Given the description of an element on the screen output the (x, y) to click on. 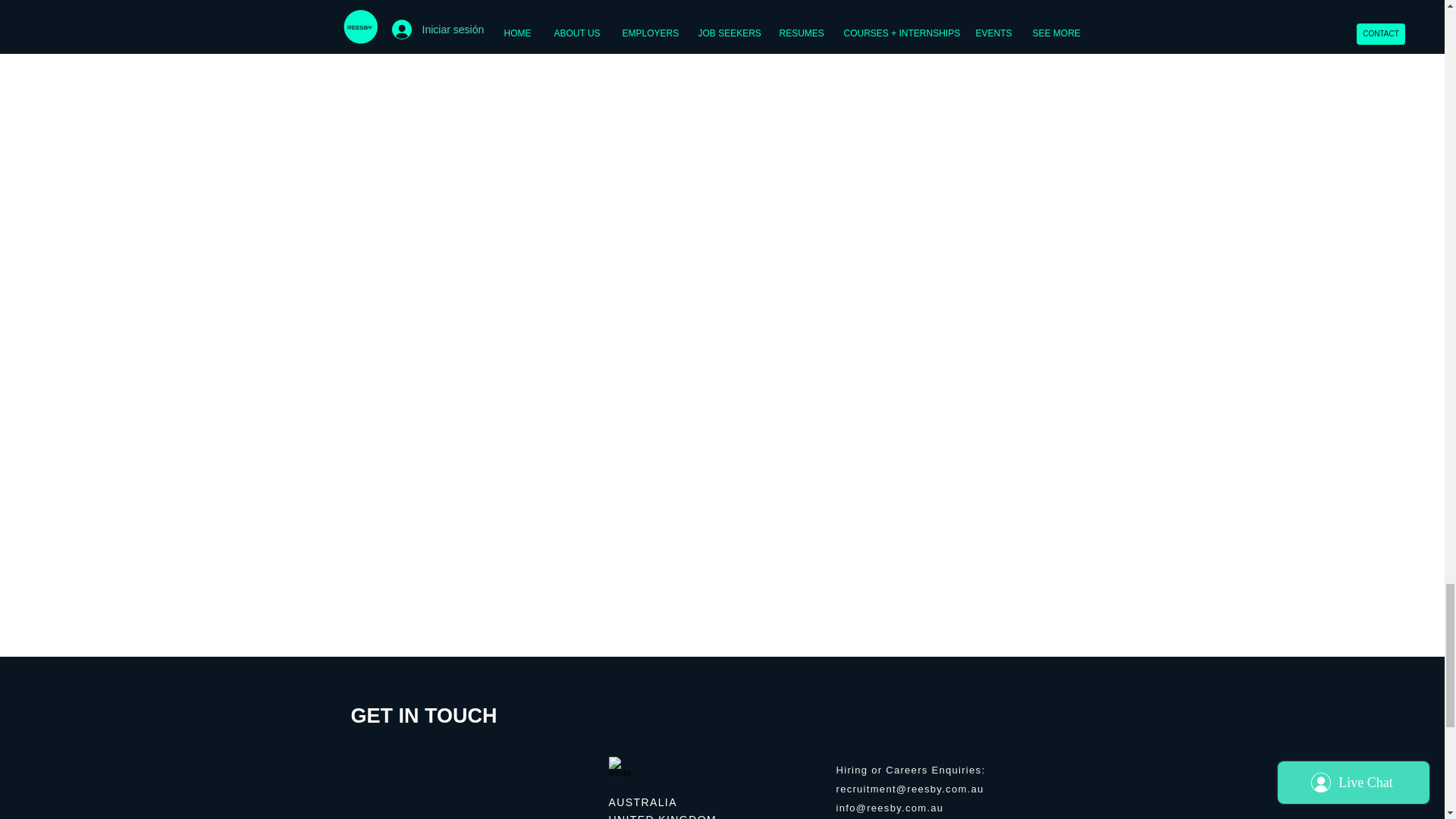
Embedded Content (575, 766)
Google Maps (470, 789)
